Given the description of an element on the screen output the (x, y) to click on. 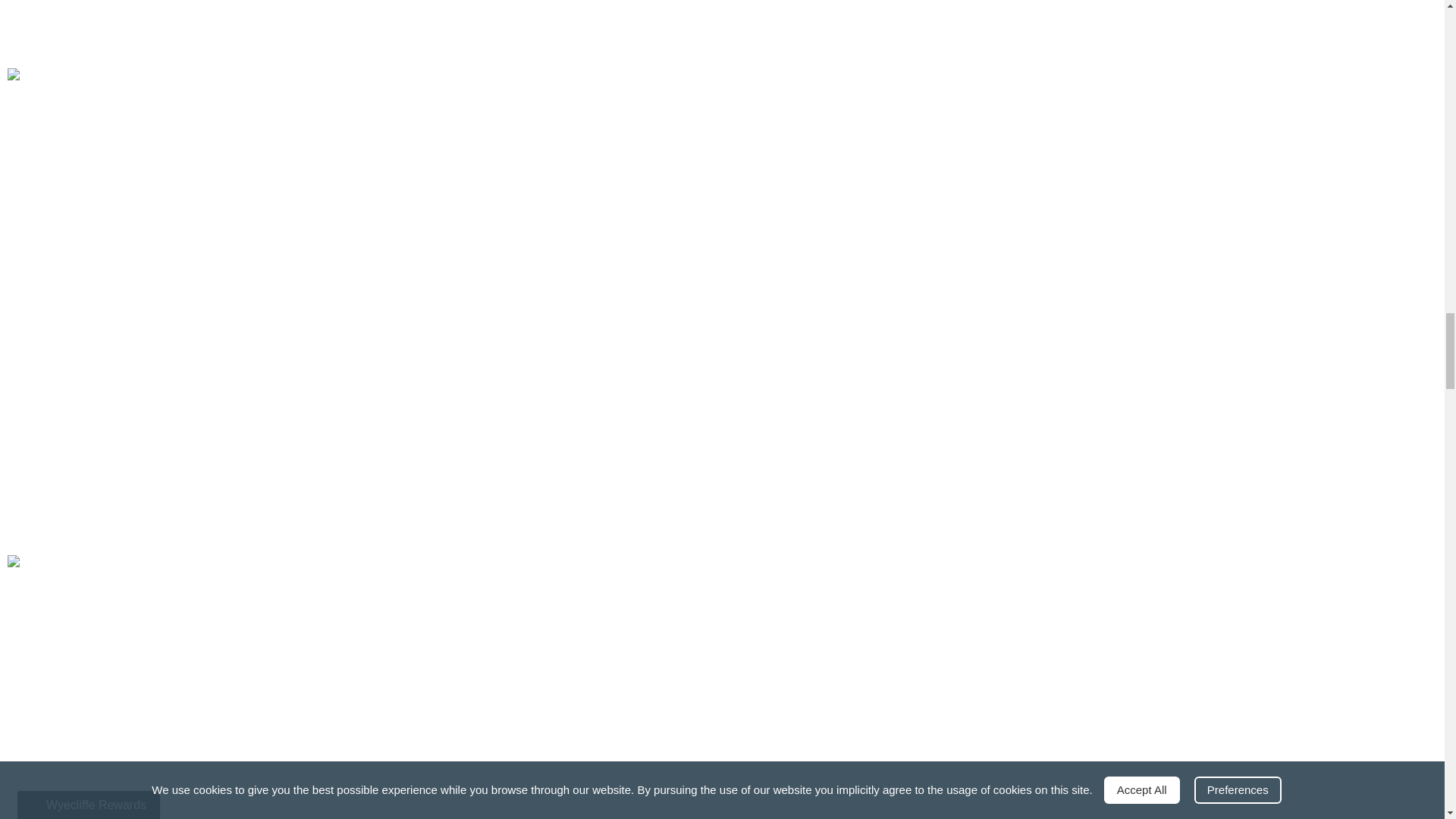
The Night Sky - Original Becky Smith Original (360, 26)
